Given the description of an element on the screen output the (x, y) to click on. 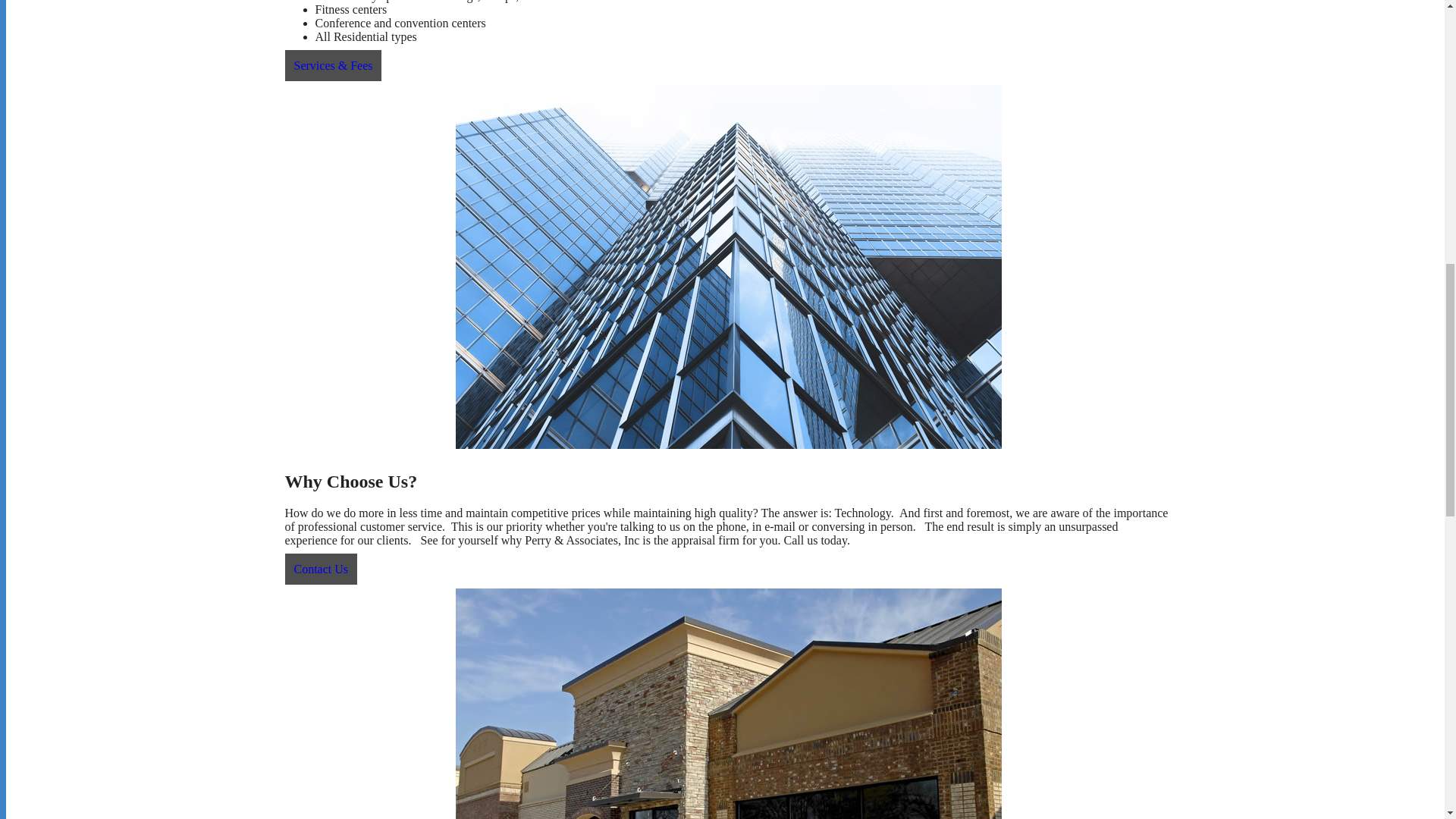
Contact Us (321, 568)
